Given the description of an element on the screen output the (x, y) to click on. 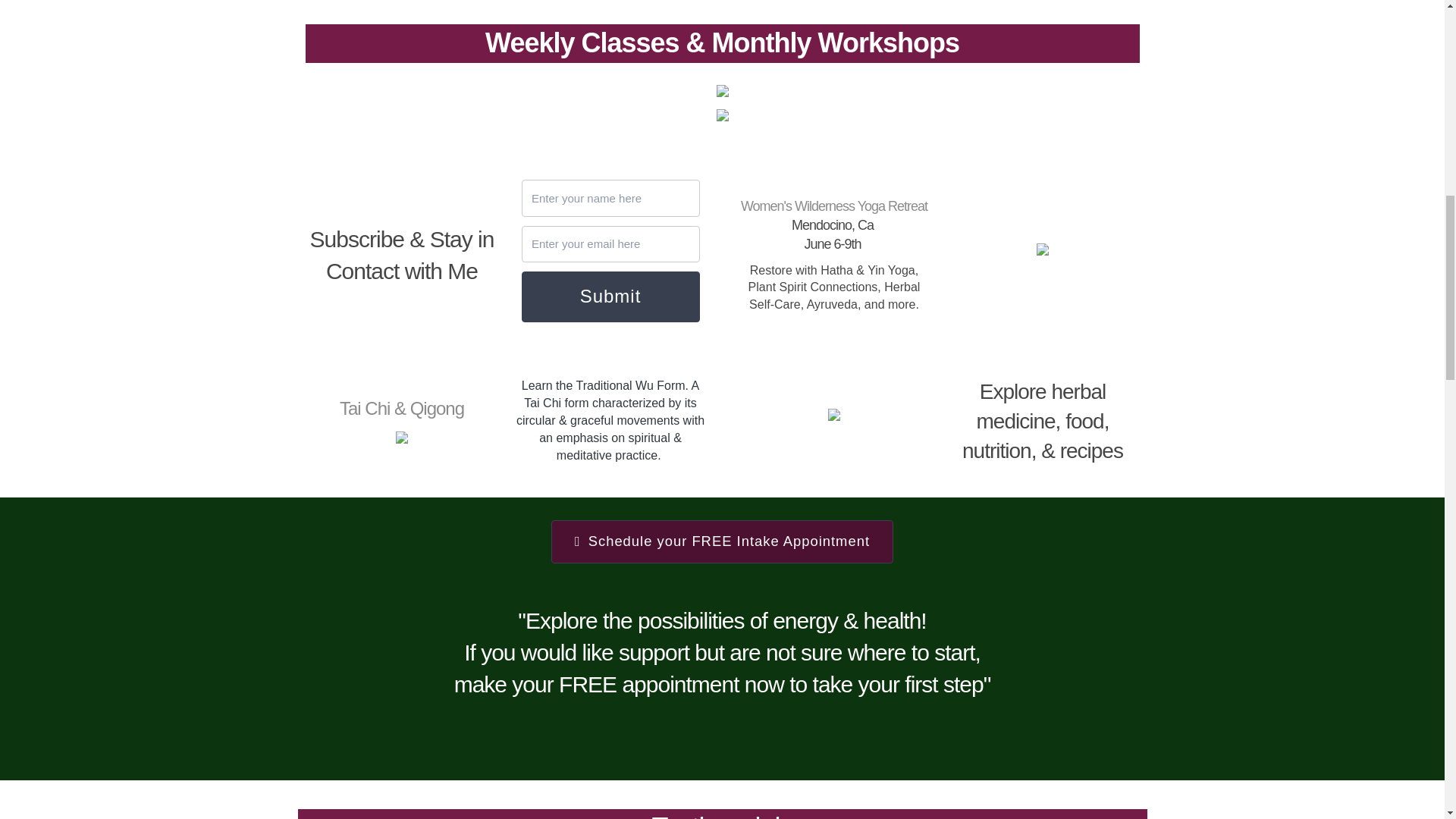
Women's Wilderness Yoga Retreat (834, 206)
Submit (610, 296)
Schedule your FREE Intake Appointment (722, 541)
